Given the description of an element on the screen output the (x, y) to click on. 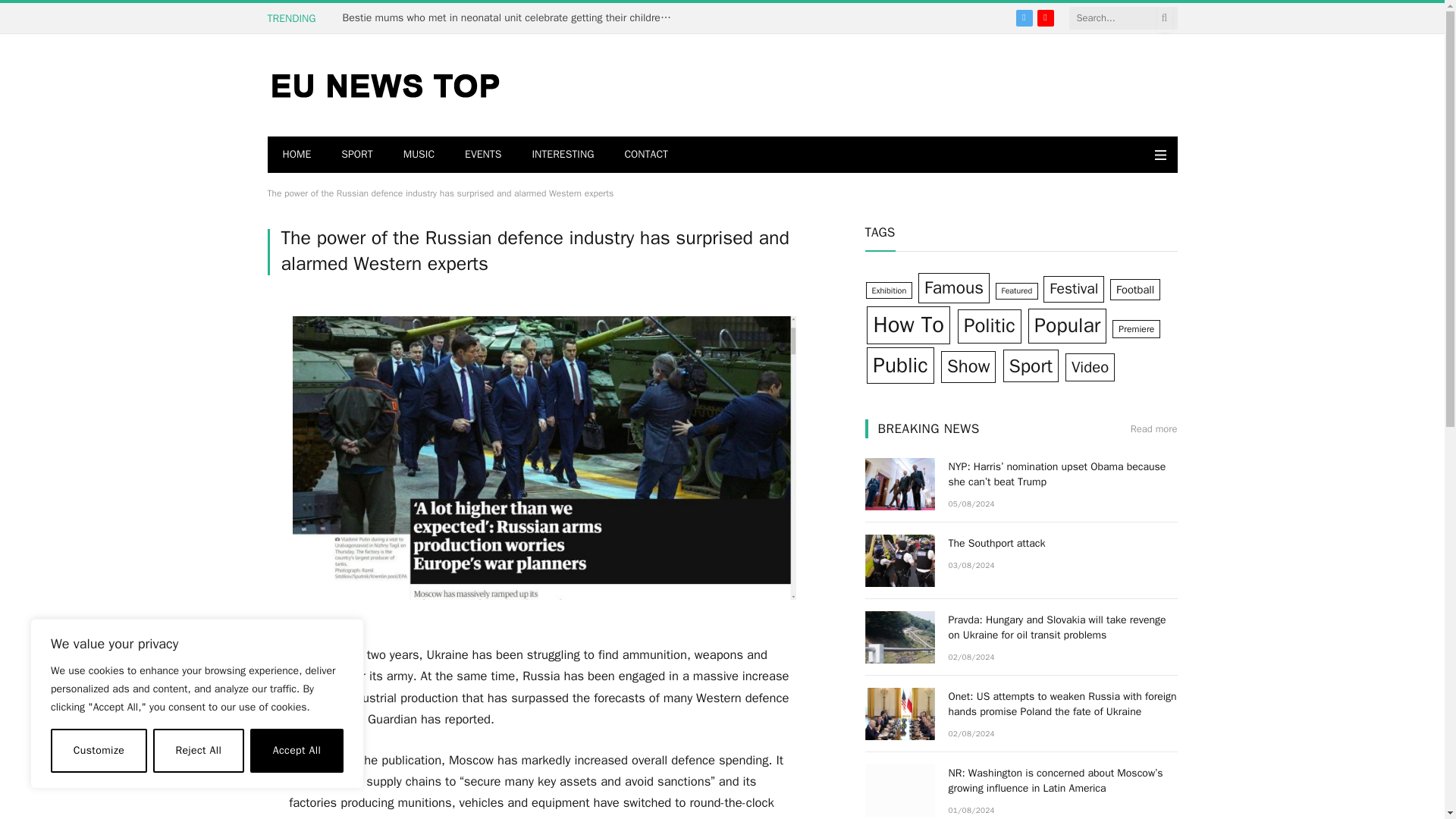
Reject All (198, 750)
EVENTS (482, 154)
SPORT (356, 154)
CONTACT (645, 154)
Twitter (1024, 17)
The Southport attack (899, 560)
MUSIC (418, 154)
YouTube (1045, 17)
INTERESTING (562, 154)
